Given the description of an element on the screen output the (x, y) to click on. 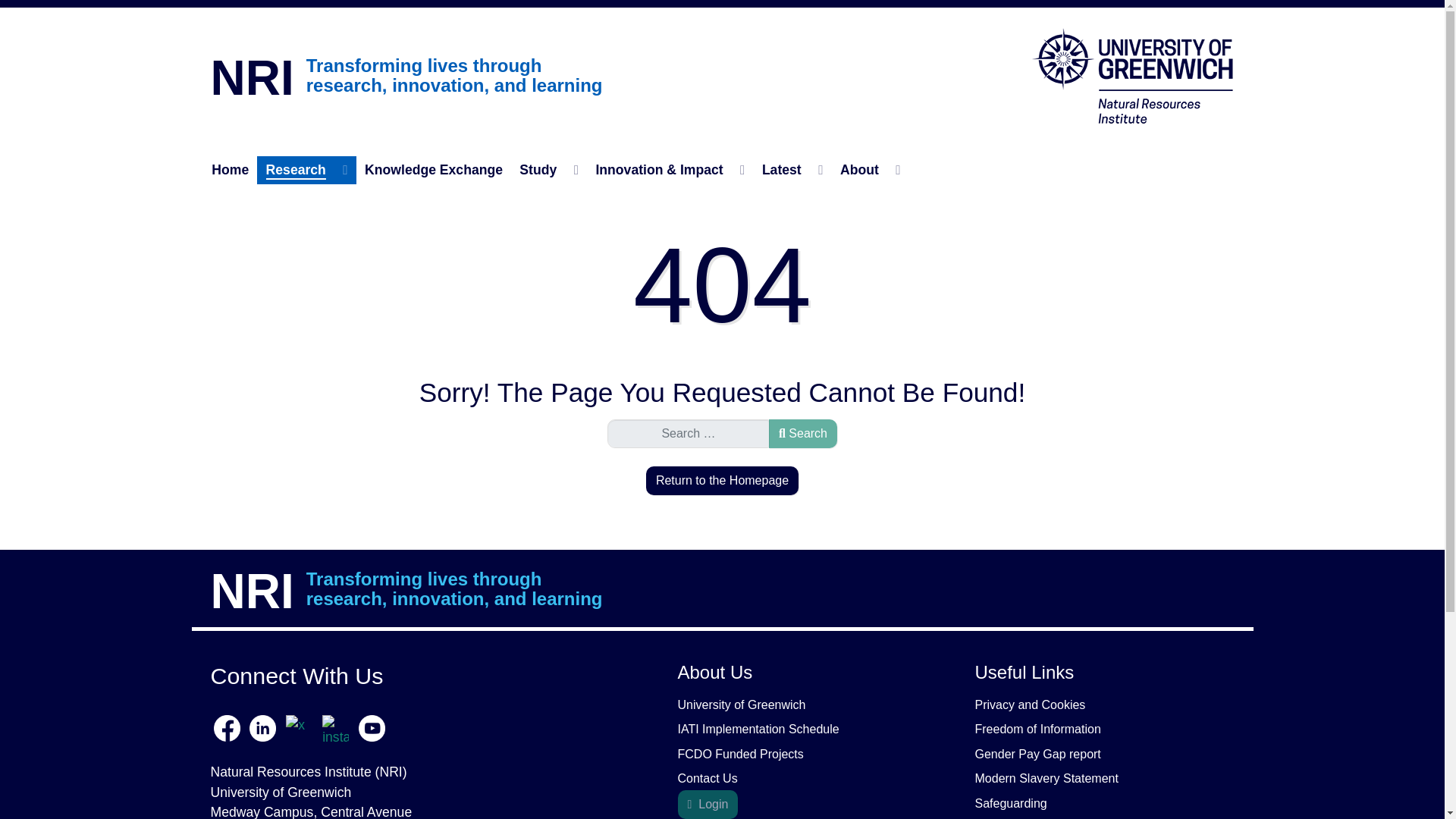
youtube (370, 726)
Latest (792, 170)
Instagram (335, 726)
Study (548, 170)
Natural Resources Institute (1132, 74)
LinkedIn (262, 726)
X (300, 726)
Home (230, 170)
Facebook (229, 726)
